Given the description of an element on the screen output the (x, y) to click on. 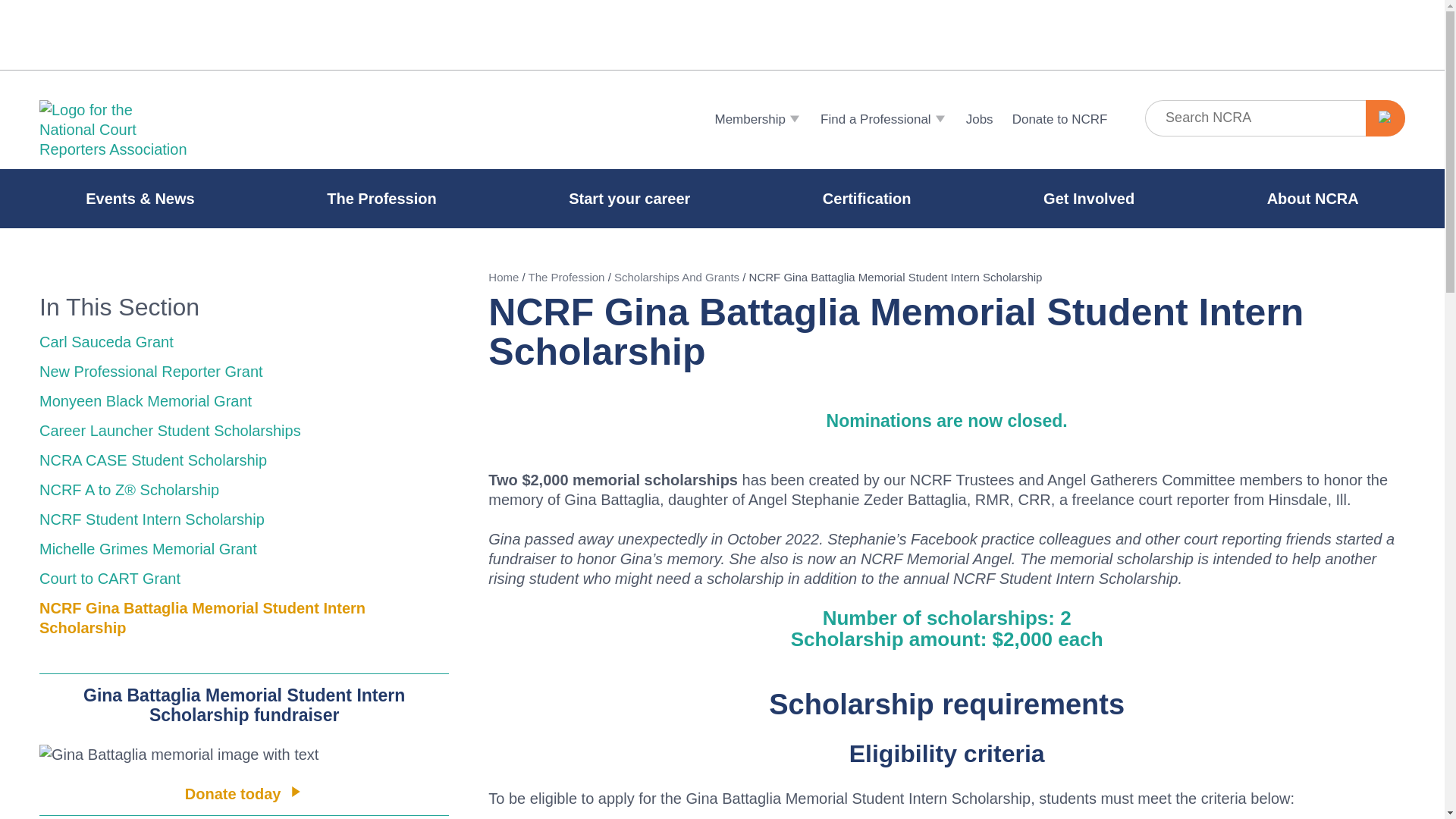
icon-search (1385, 117)
Find a Professional (881, 119)
Jobs (976, 119)
The Profession (381, 198)
logo (114, 128)
Gina Battaglia (243, 754)
Membership (755, 119)
Donate to NCRF (1057, 119)
